Given the description of an element on the screen output the (x, y) to click on. 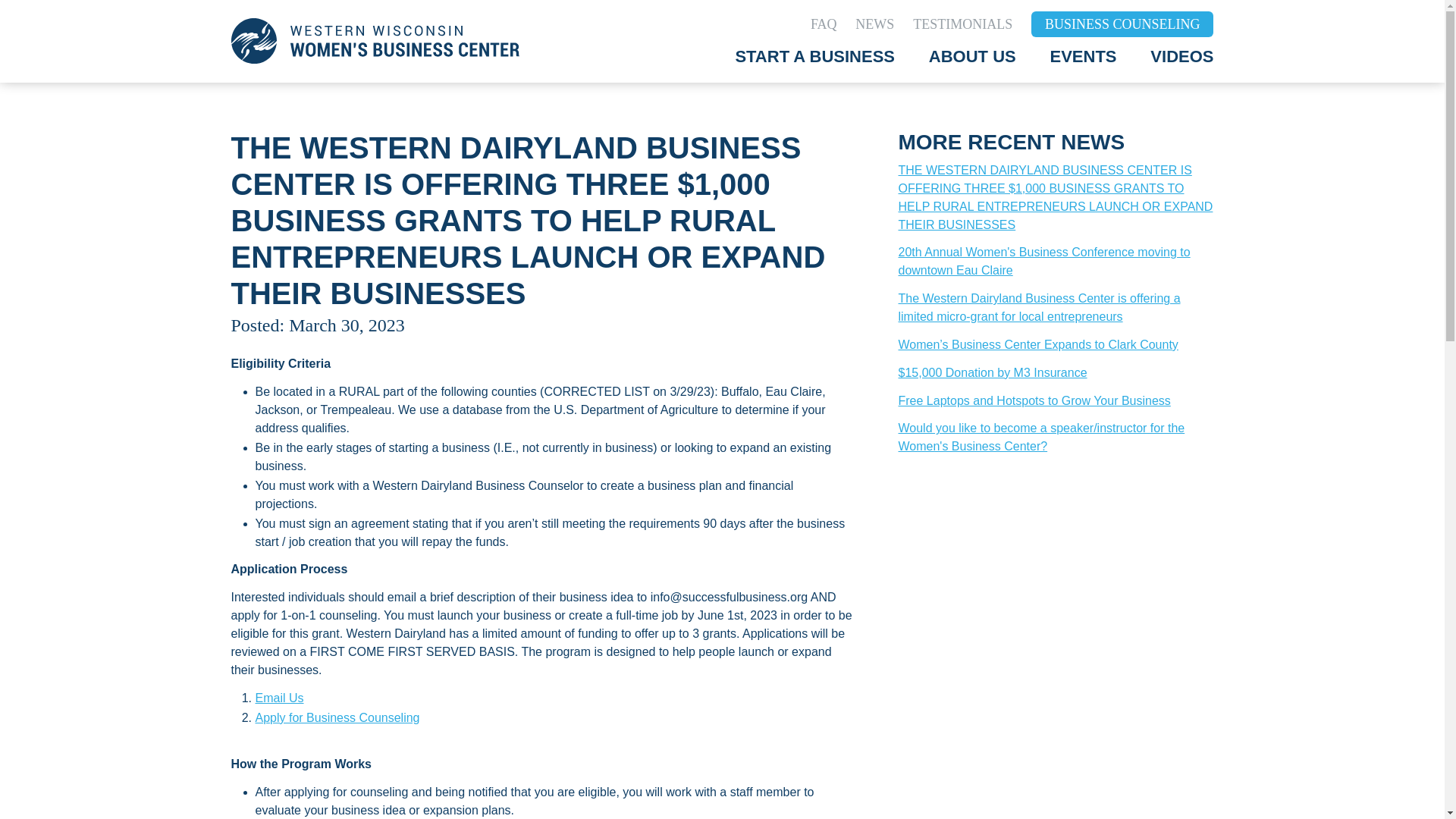
START A BUSINESS (815, 56)
TESTIMONIALS (961, 23)
ABOUT US (972, 56)
FAQ (823, 23)
NEWS (874, 23)
Apply for Business Counseling (336, 717)
VIDEOS (1181, 56)
BUSINESS COUNSELING (1122, 23)
Email Us (278, 697)
